Given the description of an element on the screen output the (x, y) to click on. 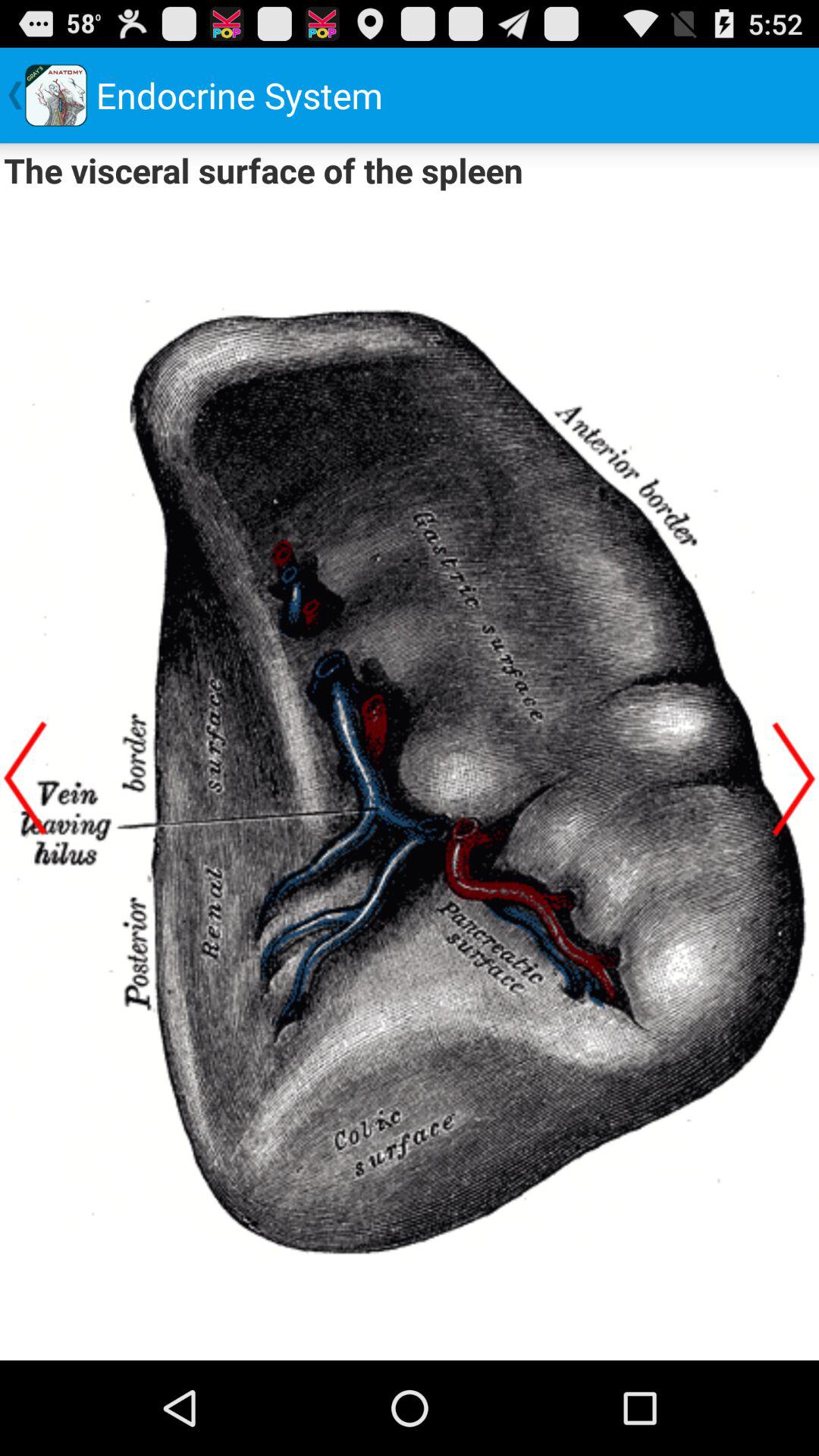
go back option (25, 778)
